Given the description of an element on the screen output the (x, y) to click on. 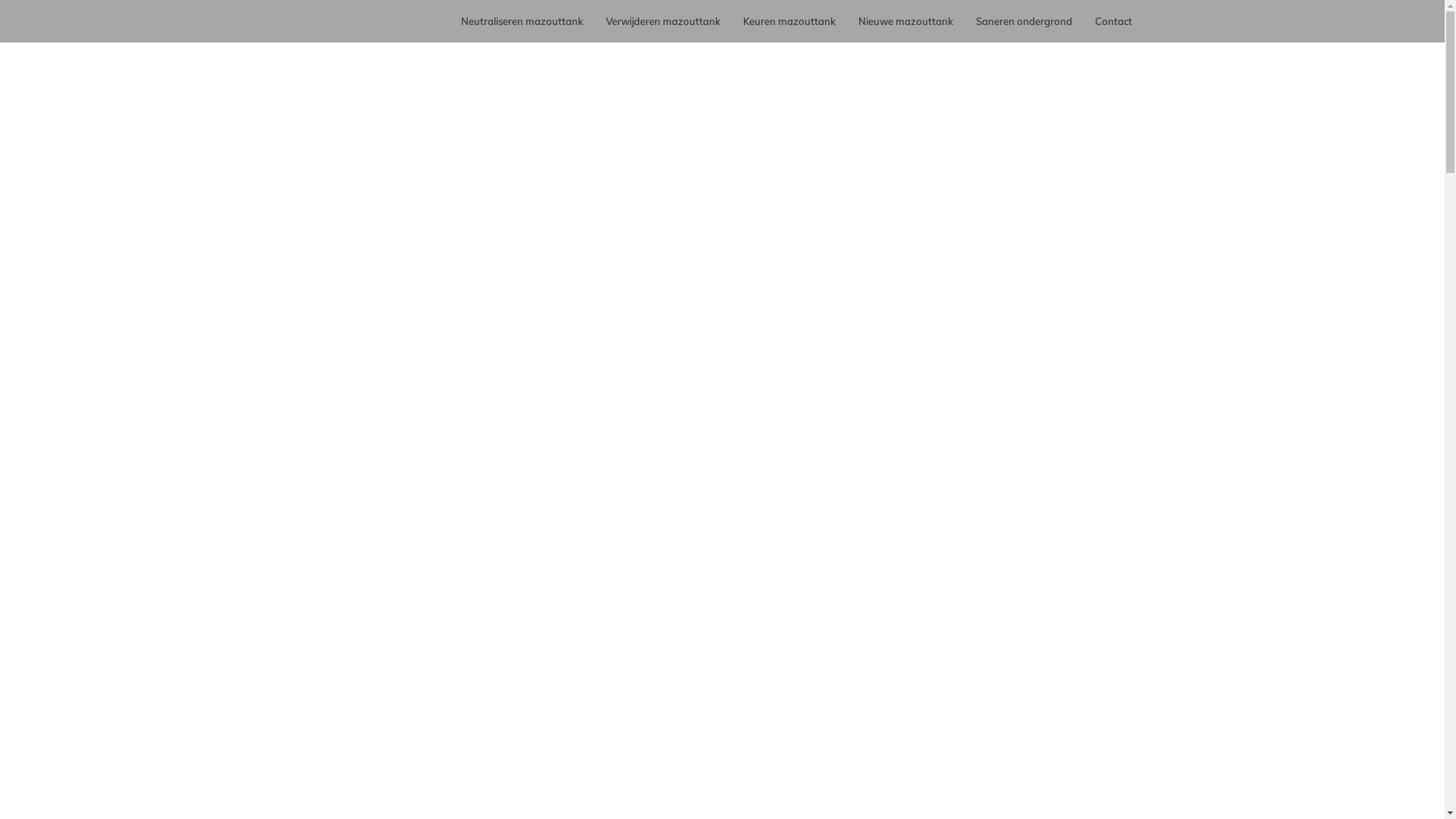
Neutraliseren mazouttank Element type: text (522, 21)
Nieuwe mazouttank Element type: text (905, 21)
Saneren ondergrond Element type: text (1023, 21)
Verwijderen mazouttank Element type: text (662, 21)
Contact Element type: text (1113, 21)
Keuren mazouttank Element type: text (789, 21)
